Given the description of an element on the screen output the (x, y) to click on. 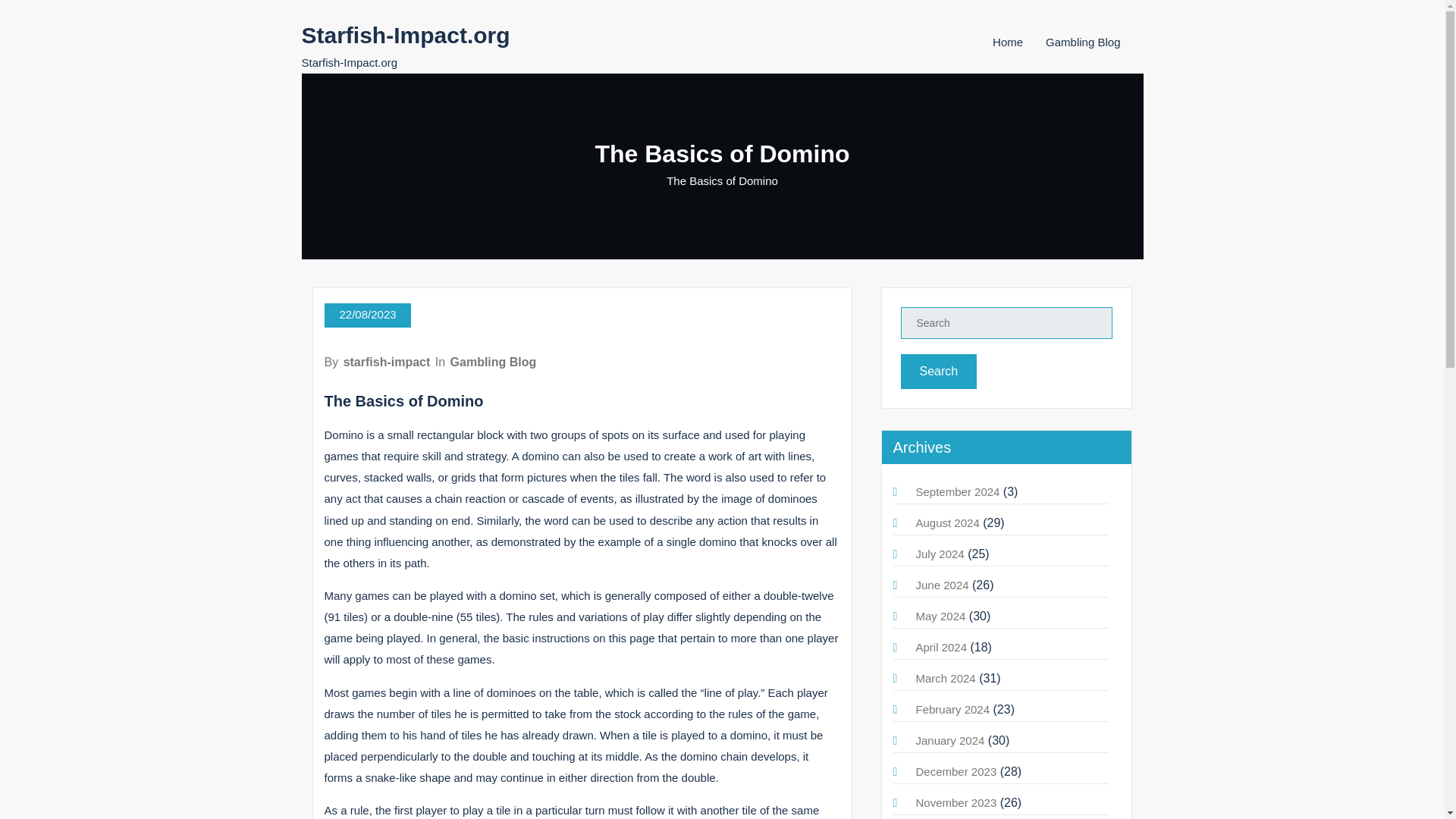
June 2024 (942, 584)
Gambling Blog (493, 361)
Gambling Blog (1082, 41)
Starfish-Impact.org (406, 34)
April 2024 (941, 646)
September 2024 (957, 491)
February 2024 (952, 708)
November 2023 (956, 802)
starfish-impact (387, 361)
Search (938, 371)
